Given the description of an element on the screen output the (x, y) to click on. 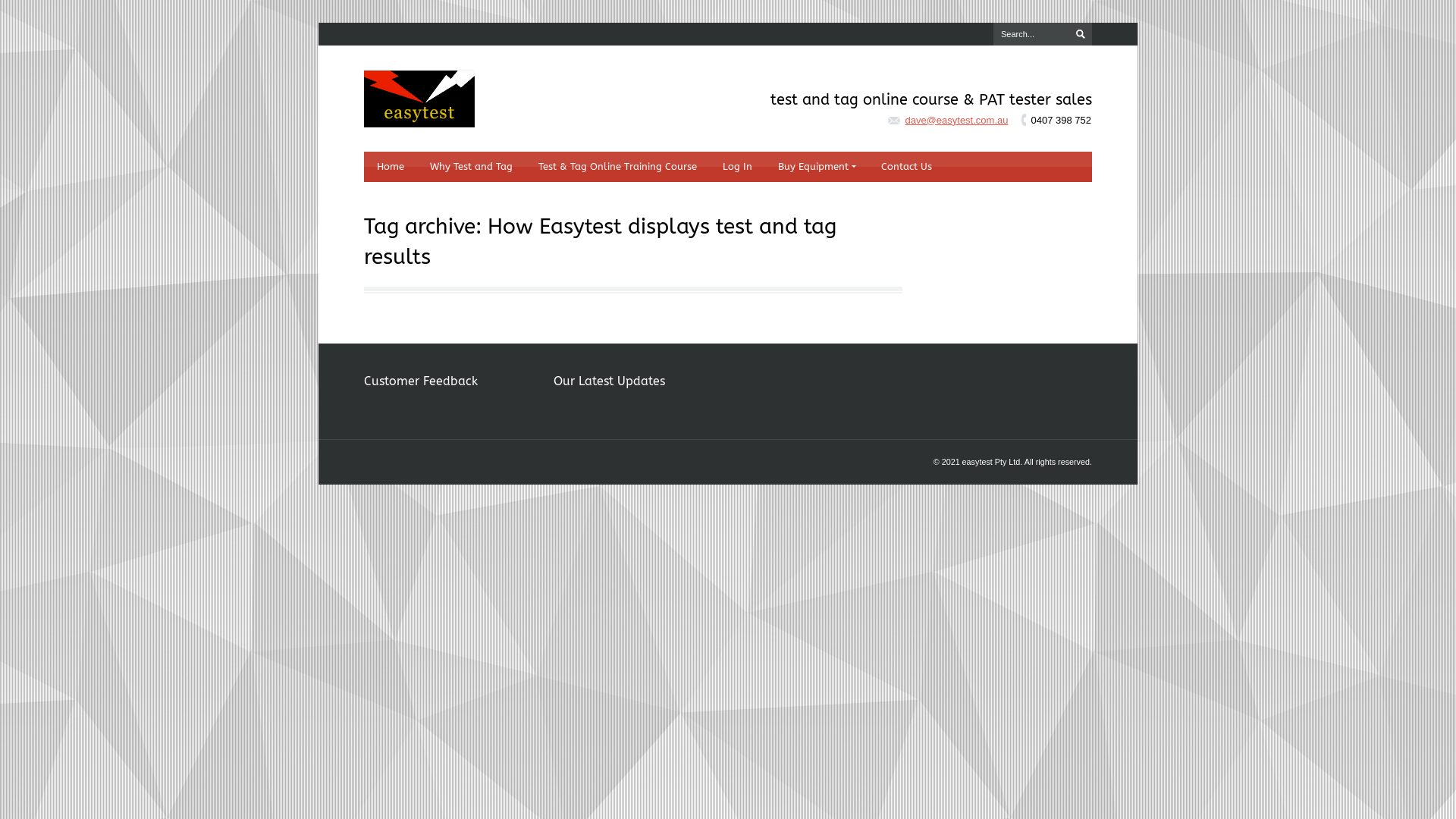
Buy Equipment Element type: text (816, 166)
Log In Element type: text (736, 166)
dave@easytest.com.au Element type: text (955, 119)
Contact Us Element type: text (906, 166)
Home Element type: text (390, 166)
Why Test and Tag Element type: text (470, 166)
Test & Tag Online Training Course Element type: text (617, 166)
